Given the description of an element on the screen output the (x, y) to click on. 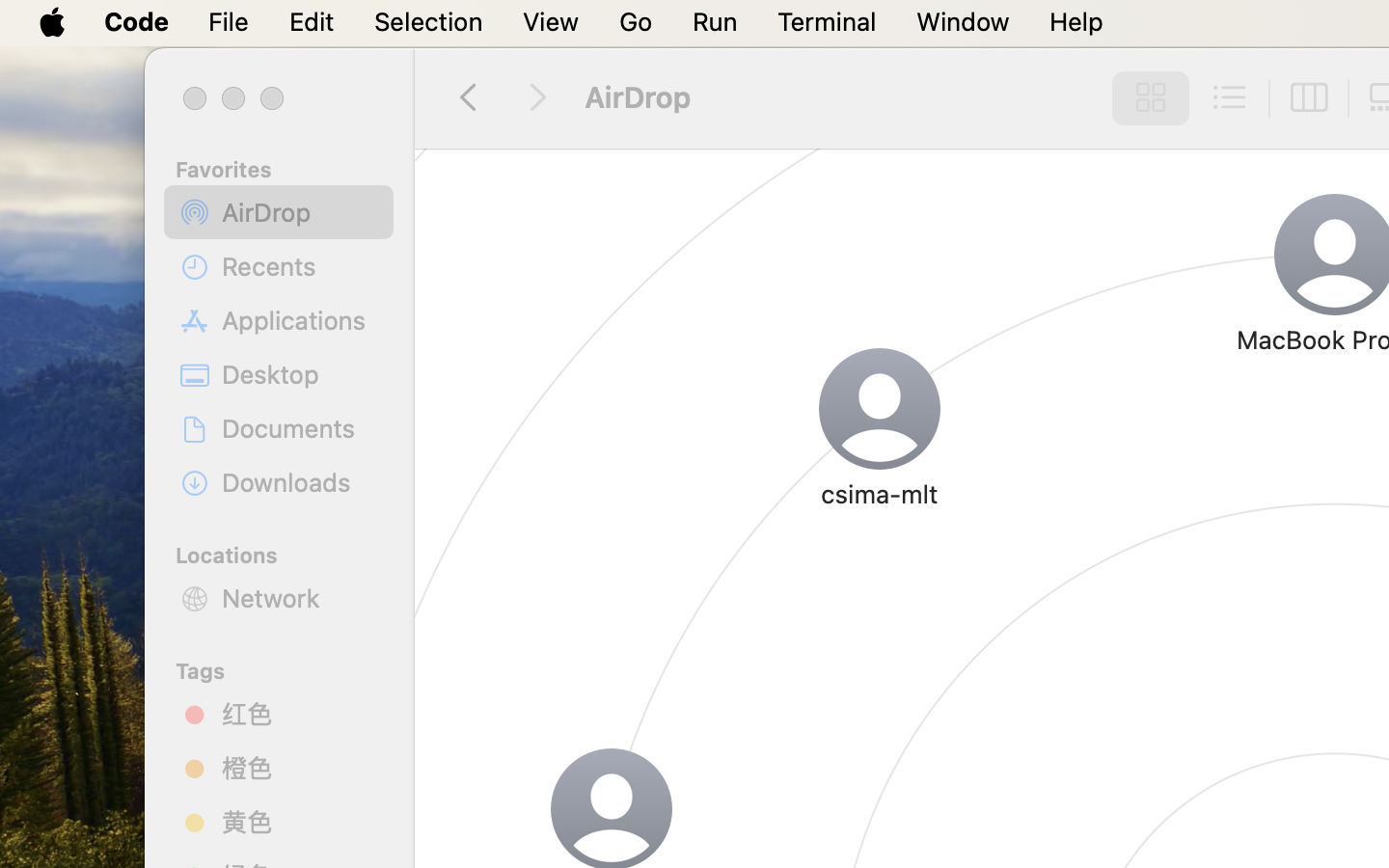
Network Element type: AXStaticText (299, 597)
红色 Element type: AXStaticText (299, 713)
Locations Element type: AXStaticText (289, 552)
csima-mlt Element type: AXStaticText (879, 493)
橙色 Element type: AXStaticText (299, 767)
